Given the description of an element on the screen output the (x, y) to click on. 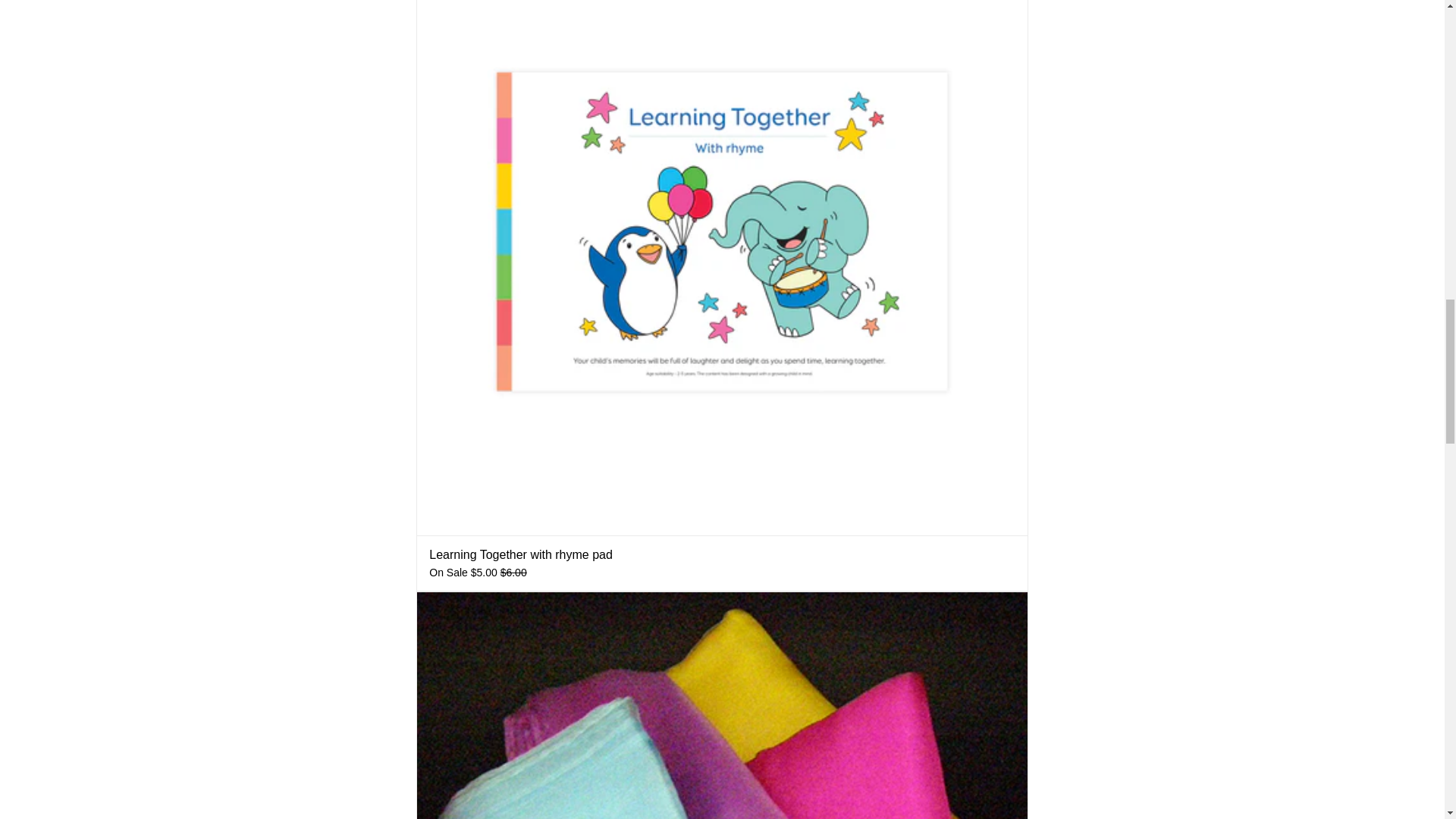
Learning Together with rhyme pad (520, 554)
